Given the description of an element on the screen output the (x, y) to click on. 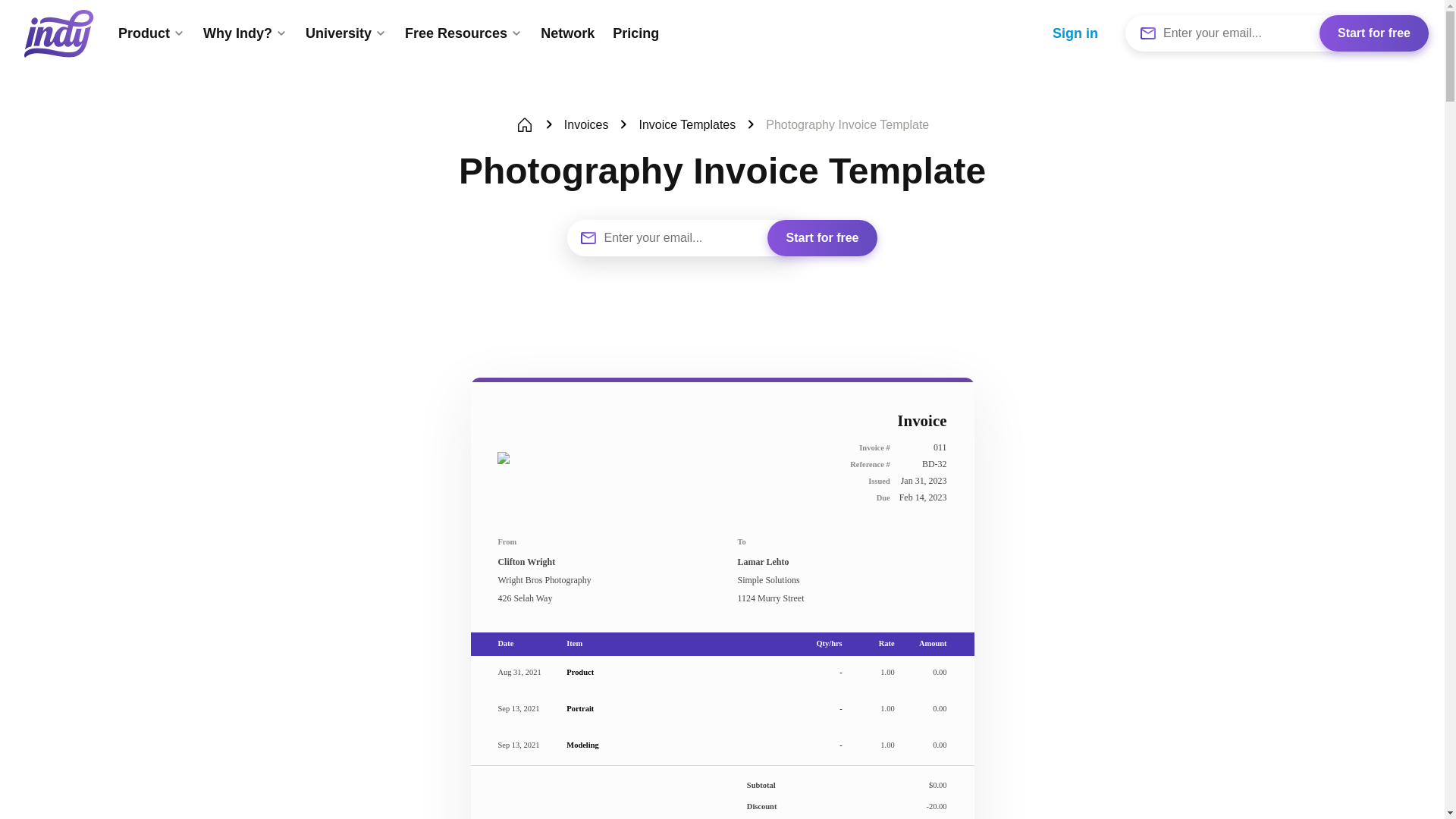
Sign in (1074, 33)
Pricing (635, 33)
Invoice Templates (687, 125)
Start for free (821, 238)
Start for free (1373, 33)
Invoices (586, 125)
Network (567, 33)
Photography Invoice Template (846, 125)
